Given the description of an element on the screen output the (x, y) to click on. 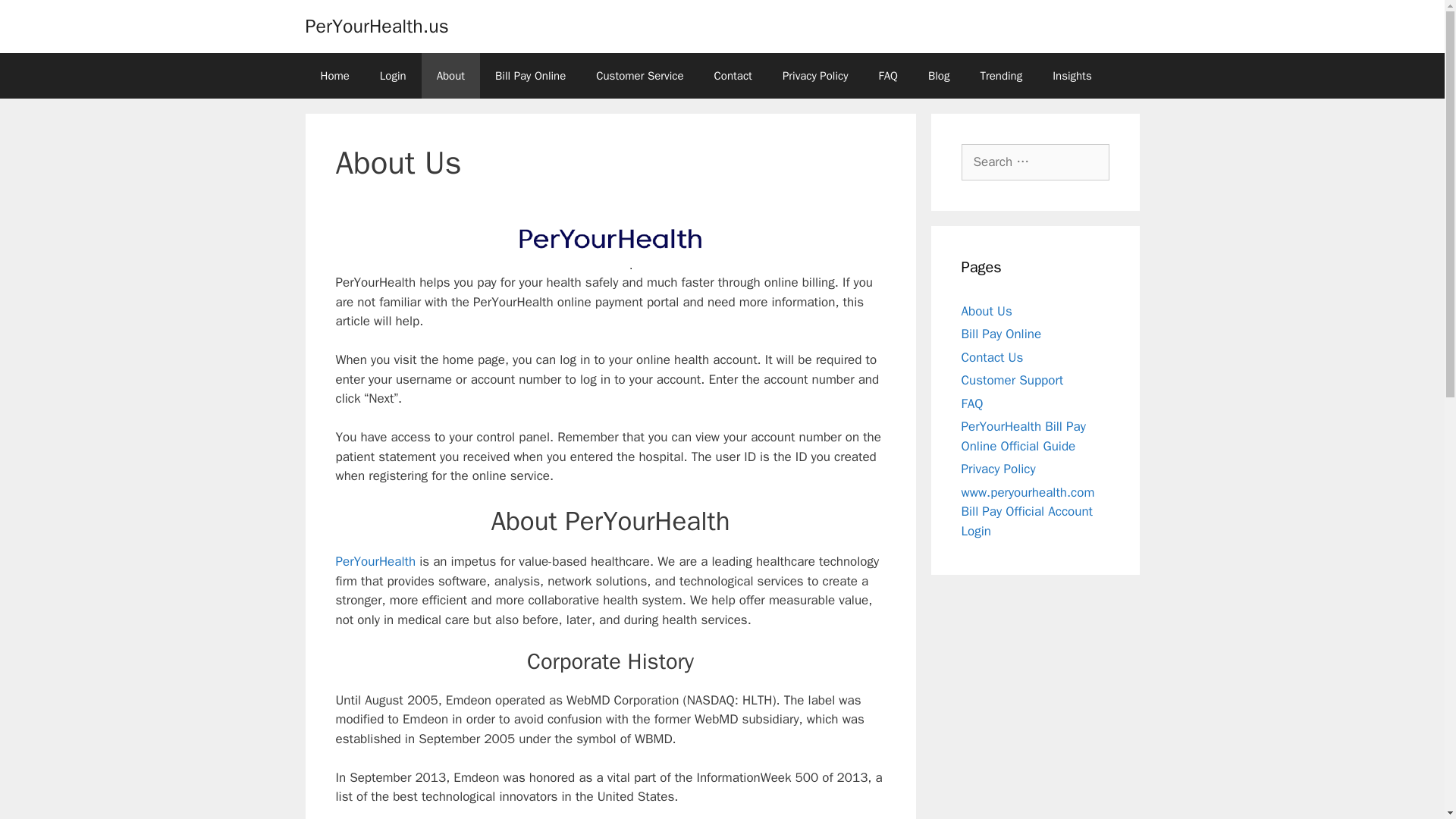
Search for: (1034, 162)
Insights (1071, 75)
Contact Us (991, 356)
About (451, 75)
Bill Pay Online (1001, 333)
FAQ (972, 403)
Privacy Policy (815, 75)
Bill Pay Online (530, 75)
Privacy Policy (997, 468)
Customer Support (1012, 380)
